Given the description of an element on the screen output the (x, y) to click on. 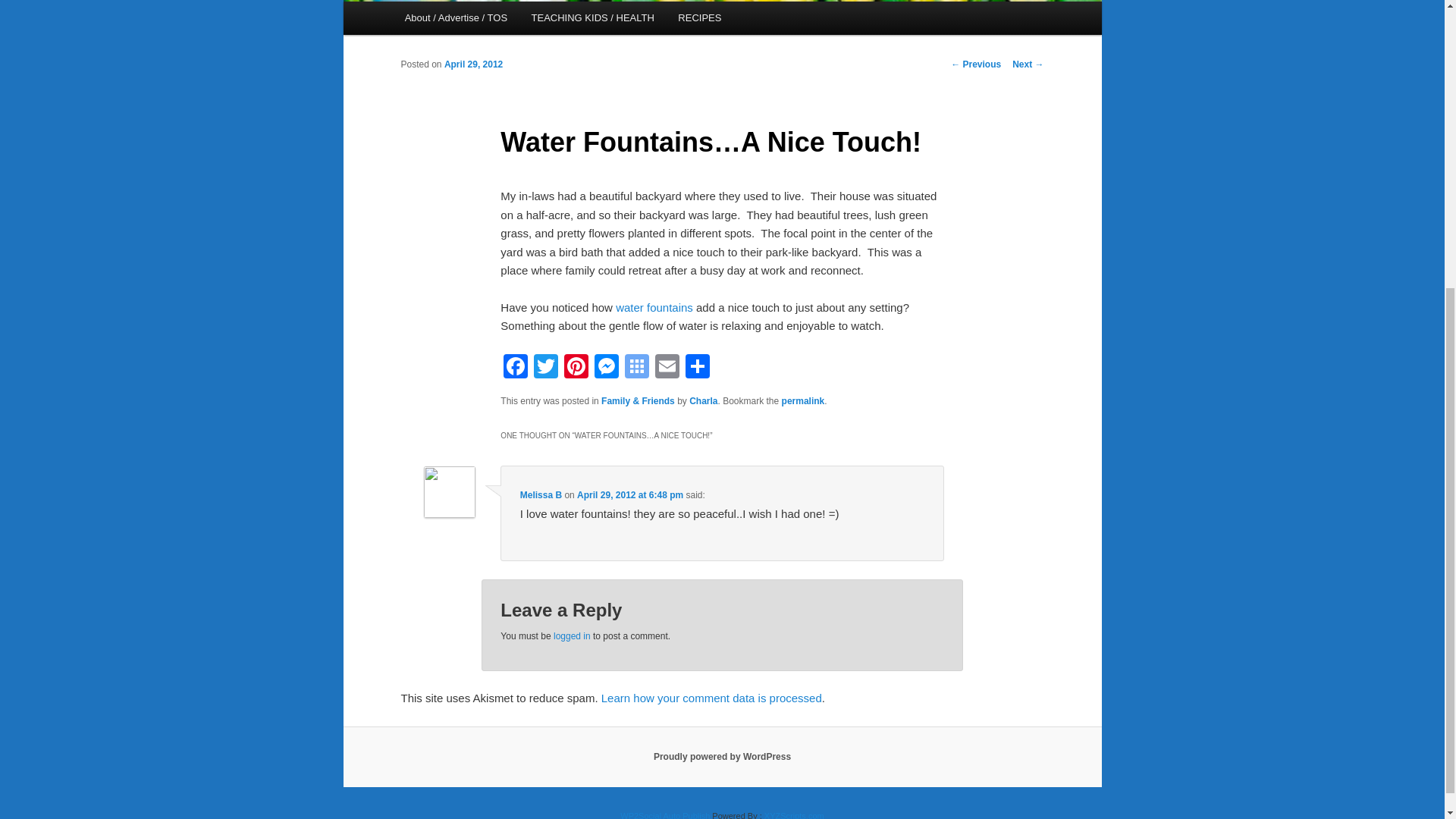
April 29, 2012 (473, 63)
Facebook (515, 367)
Facebook (515, 367)
Email (667, 367)
water fountains (654, 307)
Email (667, 367)
RECIPES (699, 17)
Learn how your comment data is processed (711, 697)
Messenger (606, 367)
Symbaloo Bookmarks (636, 367)
